Given the description of an element on the screen output the (x, y) to click on. 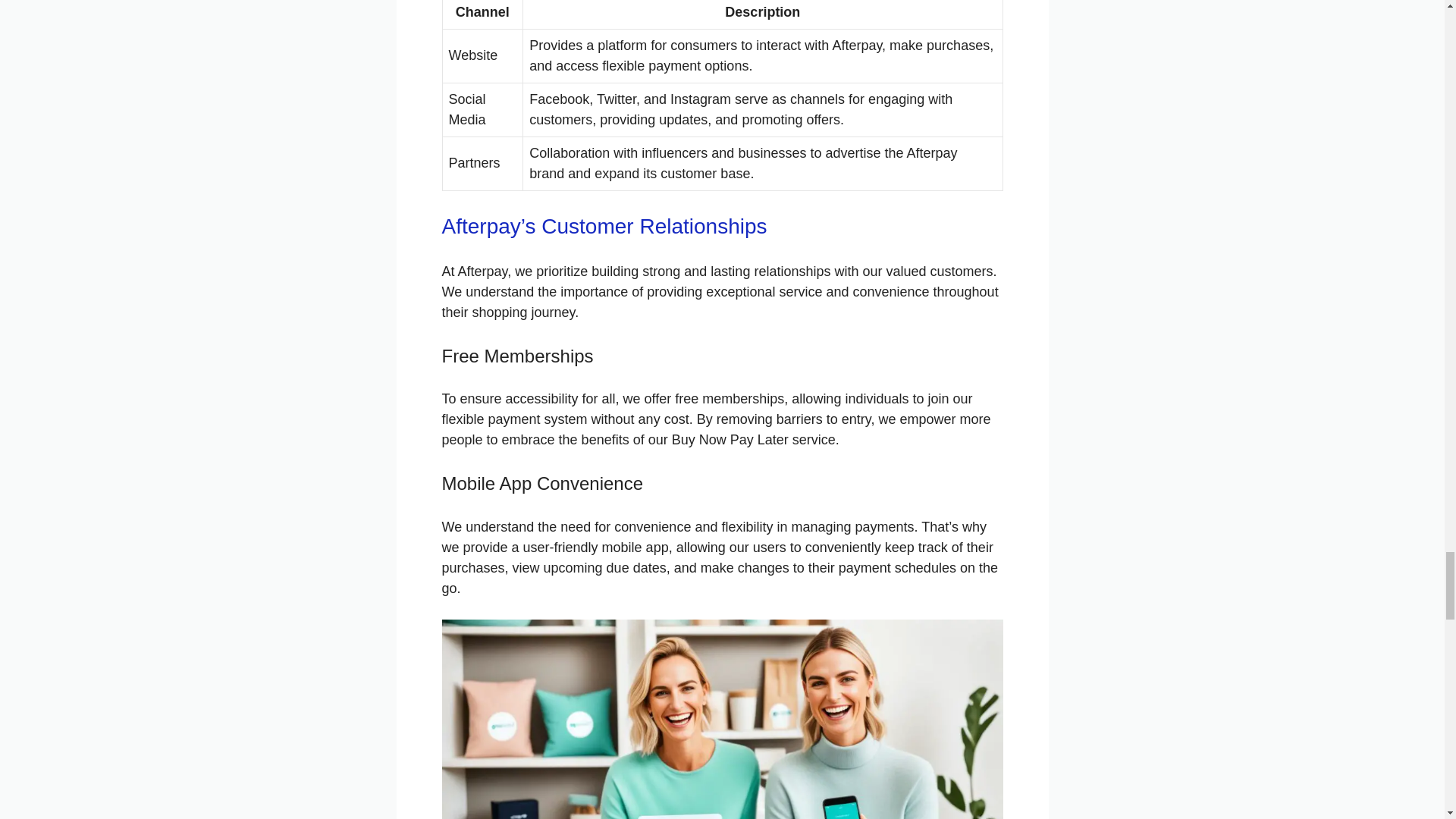
Afterpay Customer Relationships (722, 719)
